Given the description of an element on the screen output the (x, y) to click on. 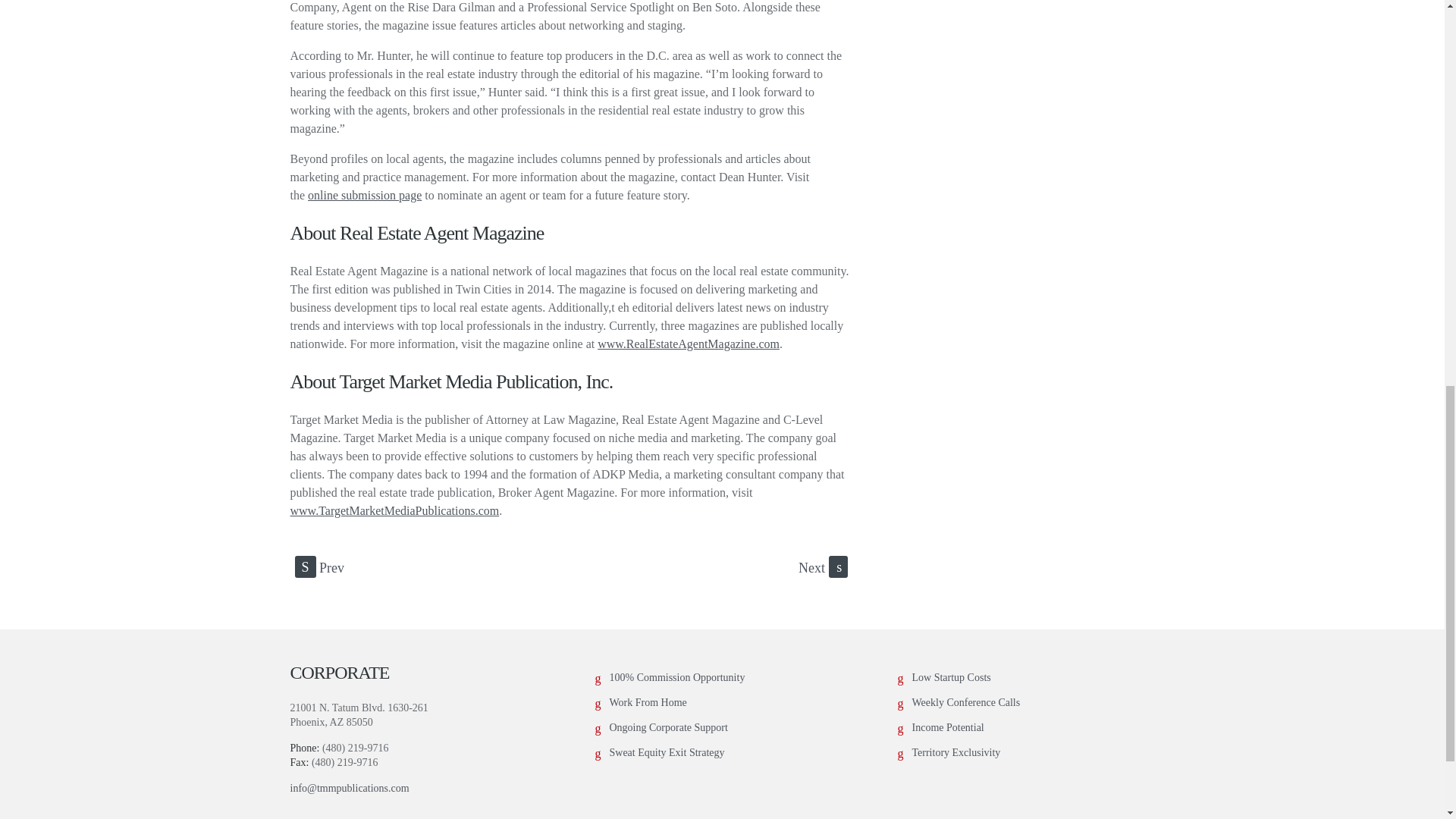
Sweat Equity Exit Strategy (667, 752)
Low Startup Costs (950, 677)
Ongoing Corporate Support (669, 727)
online submission page (364, 195)
S Prev (318, 567)
Work From Home (648, 702)
www.RealEstateAgentMagazine.com (687, 343)
Next s (822, 567)
www.TargetMarketMediaPublications.com (394, 510)
